Given the description of an element on the screen output the (x, y) to click on. 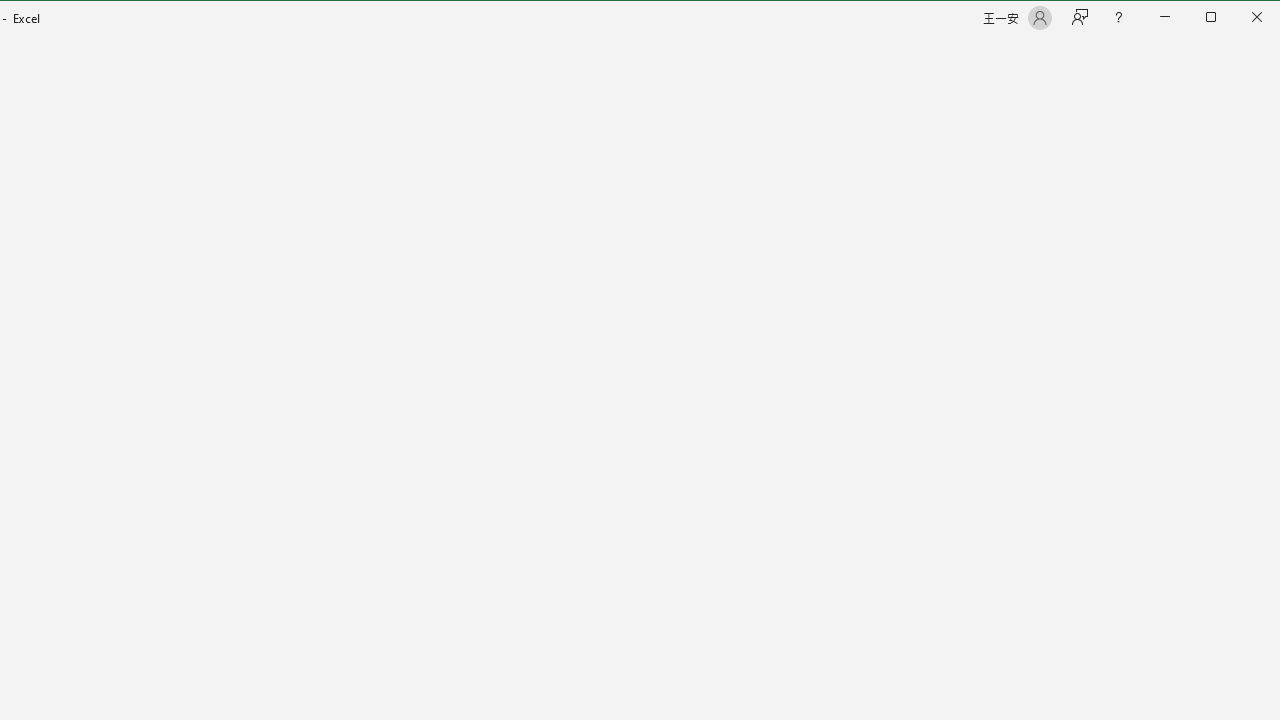
Help (1118, 17)
Maximize (1239, 18)
Close (1261, 18)
Minimize (1217, 18)
